Given the description of an element on the screen output the (x, y) to click on. 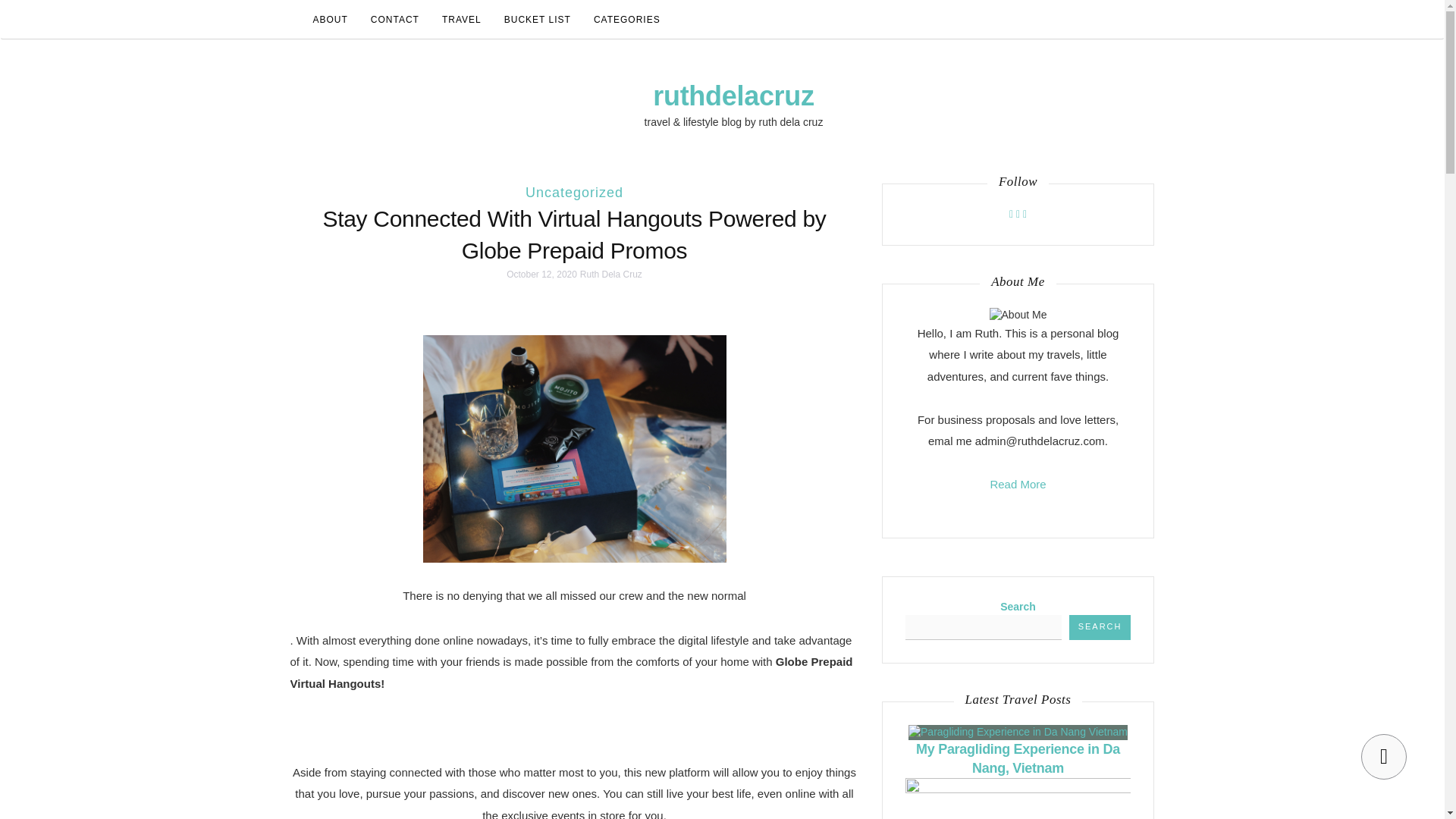
About (330, 19)
Contact (394, 19)
TRAVEL (461, 19)
Uncategorized (574, 192)
CONTACT (394, 19)
ABOUT (330, 19)
Ruth Dela Cruz (610, 274)
BUCKET LIST (537, 19)
CATEGORIES (626, 19)
Travel (461, 19)
Bucket List (537, 19)
ruthdelacruz (732, 95)
Categories (626, 19)
